Given the description of an element on the screen output the (x, y) to click on. 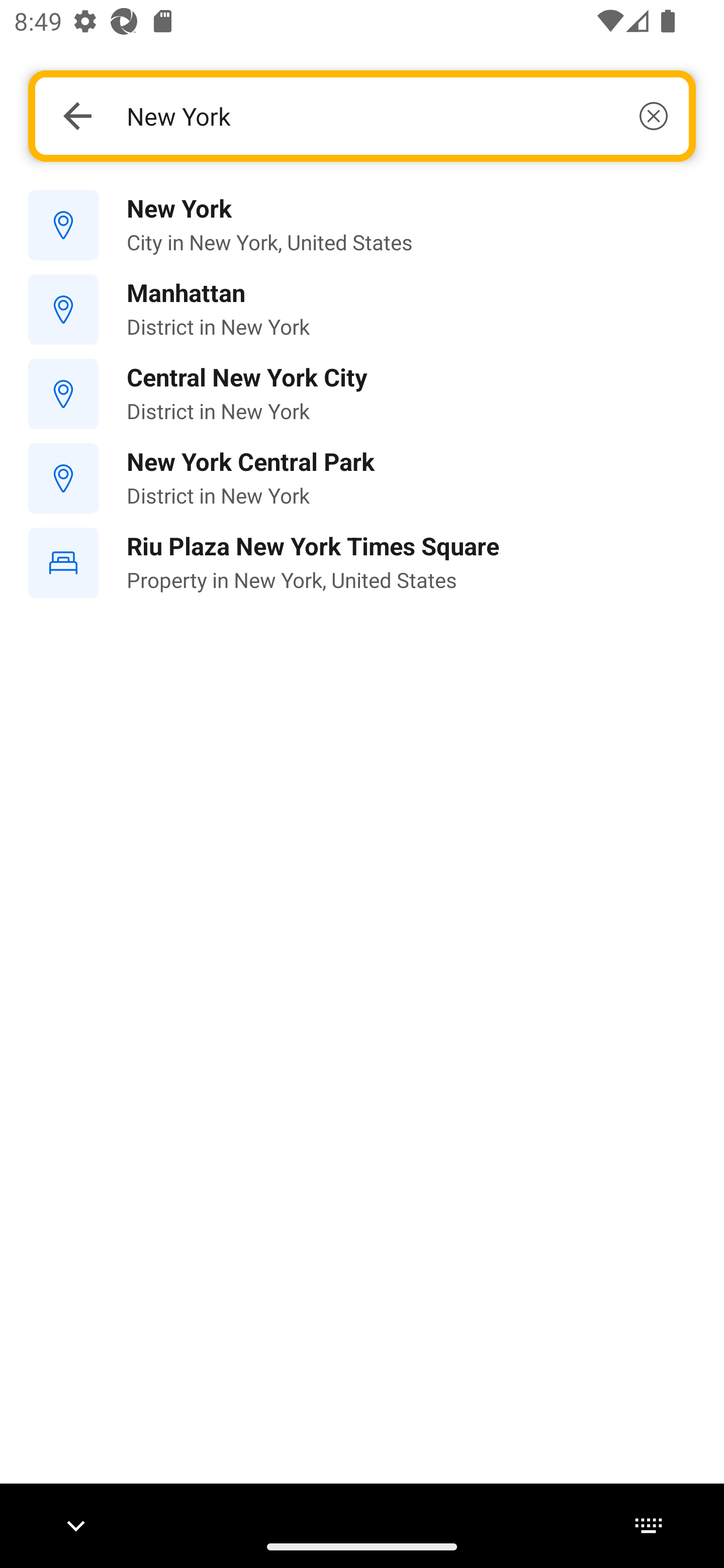
New York (396, 115)
New York City in New York, United States (362, 225)
Manhattan District in New York (362, 309)
Central New York City District in New York (362, 393)
New York Central Park District in New York (362, 477)
